Given the description of an element on the screen output the (x, y) to click on. 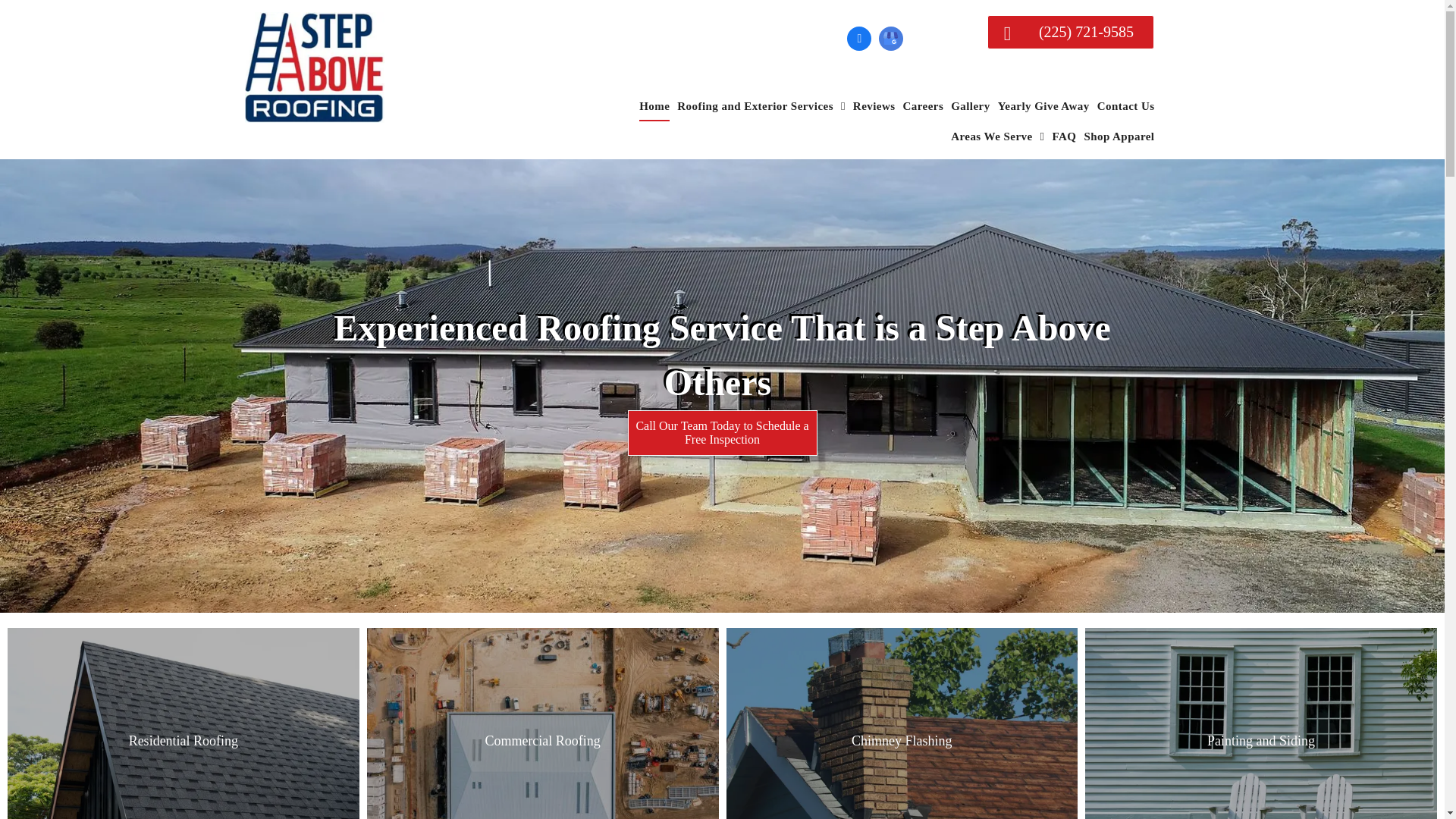
Roofing and Exterior Services (757, 105)
Home (650, 105)
A Step Above Roofing (314, 67)
